Given the description of an element on the screen output the (x, y) to click on. 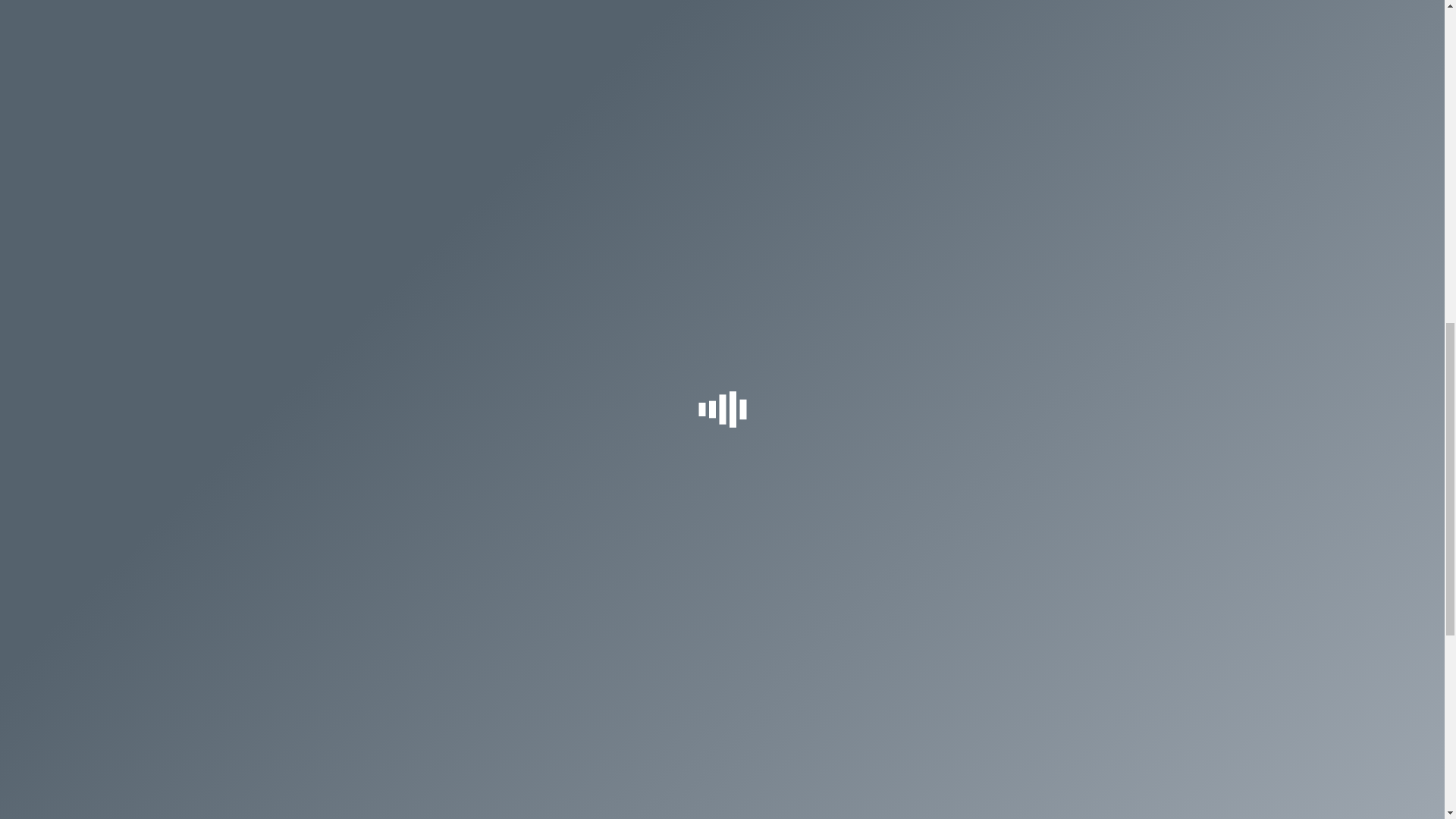
Adapting Rituals in a Time Where Change is Inevitable (783, 472)
July 1, 2016 (623, 214)
12:00 am (623, 214)
Are you experiencing Zoom Fatigue? (458, 462)
By Steve Lounsberry (543, 214)
No Pain, No Brain Gain (424, 637)
Accountability (725, 549)
A Mental Framework for Learning (449, 549)
View all posts by Steve Lounsberry (543, 214)
